Given the description of an element on the screen output the (x, y) to click on. 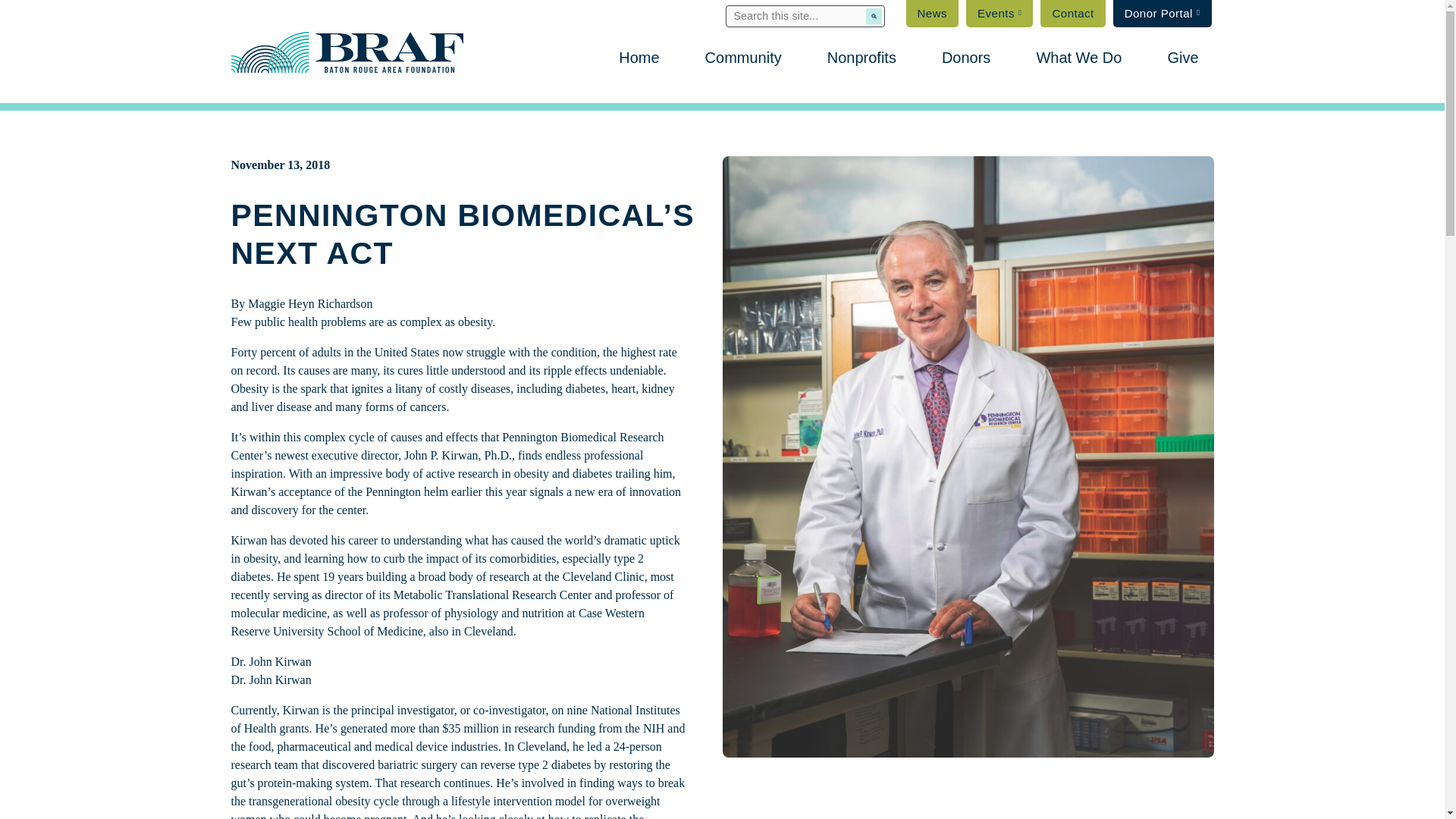
Home (639, 57)
Search (873, 16)
Baton Rouge Area Foundation (346, 51)
Events (999, 13)
Community (743, 57)
Nonprofits (861, 57)
Contact (1073, 13)
What We Do (1078, 57)
News (932, 13)
Donor Portal (1162, 13)
Donors (966, 57)
